Given the description of an element on the screen output the (x, y) to click on. 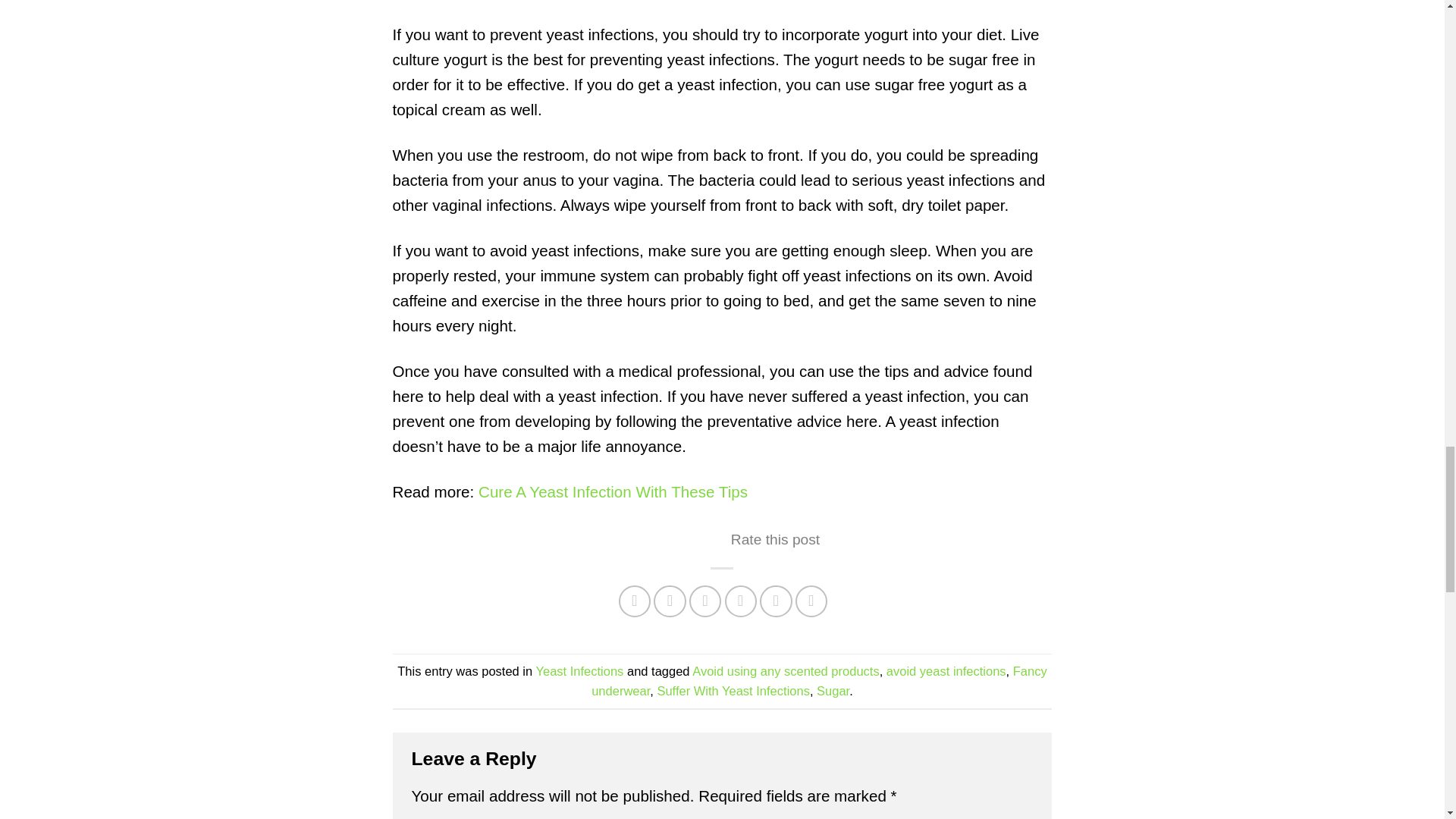
Cure A Yeast Infection With These Tips (613, 491)
Yeast Infections (579, 671)
Pin on Pinterest (705, 601)
Share on Twitter (669, 601)
Avoid using any scented products (786, 671)
Suffer With Yeast Infections (732, 690)
avoid yeast infections (946, 671)
Share on Facebook (634, 601)
Fancy underwear (818, 680)
Sugar (832, 690)
